Given the description of an element on the screen output the (x, y) to click on. 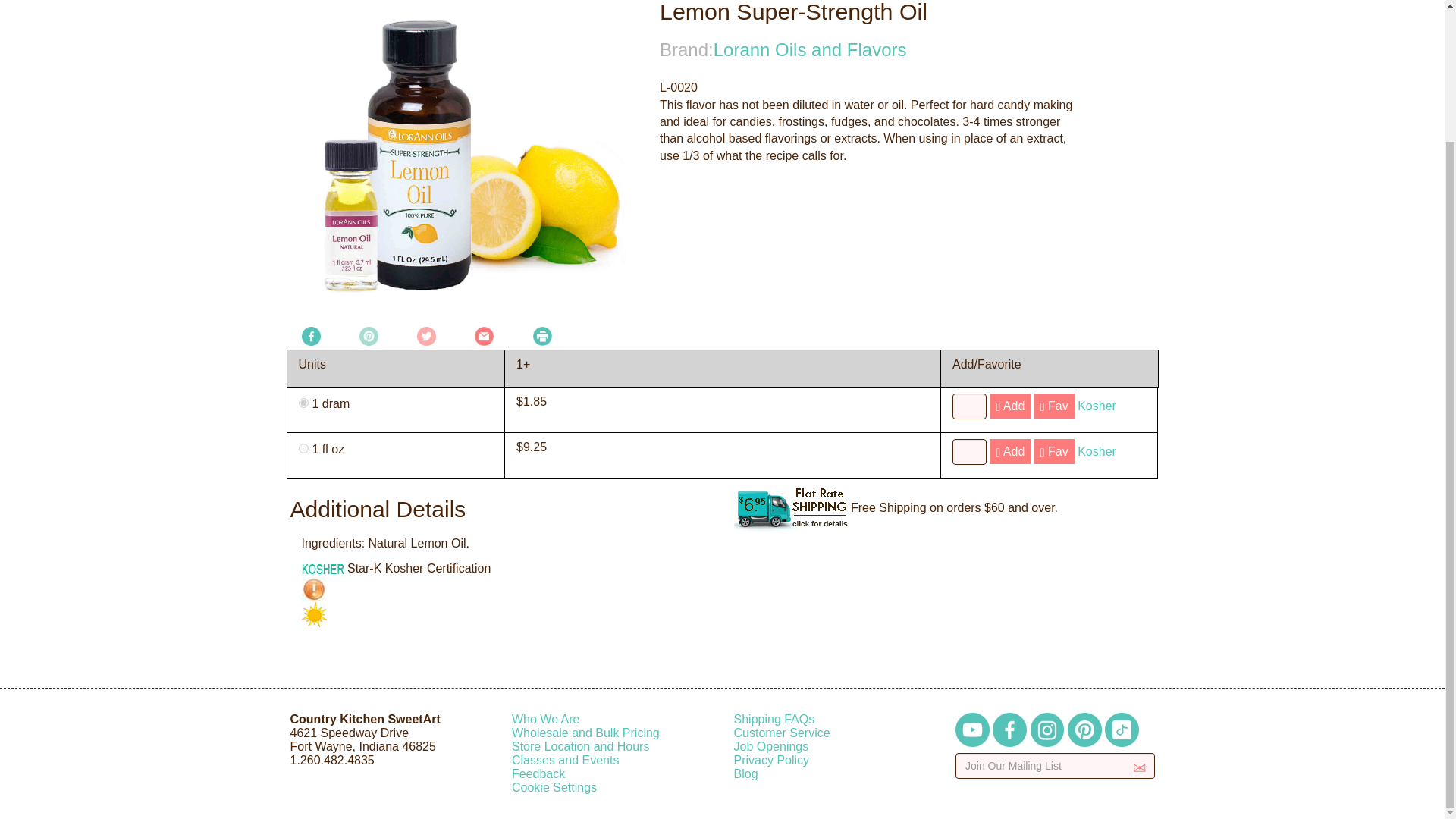
Share by Email (483, 335)
Enter number of items to purchase (969, 451)
Lemon Super-Strength Oil (463, 161)
Enter number of items to purchase (969, 406)
42-2020 (303, 402)
L-0020 (303, 448)
